Given the description of an element on the screen output the (x, y) to click on. 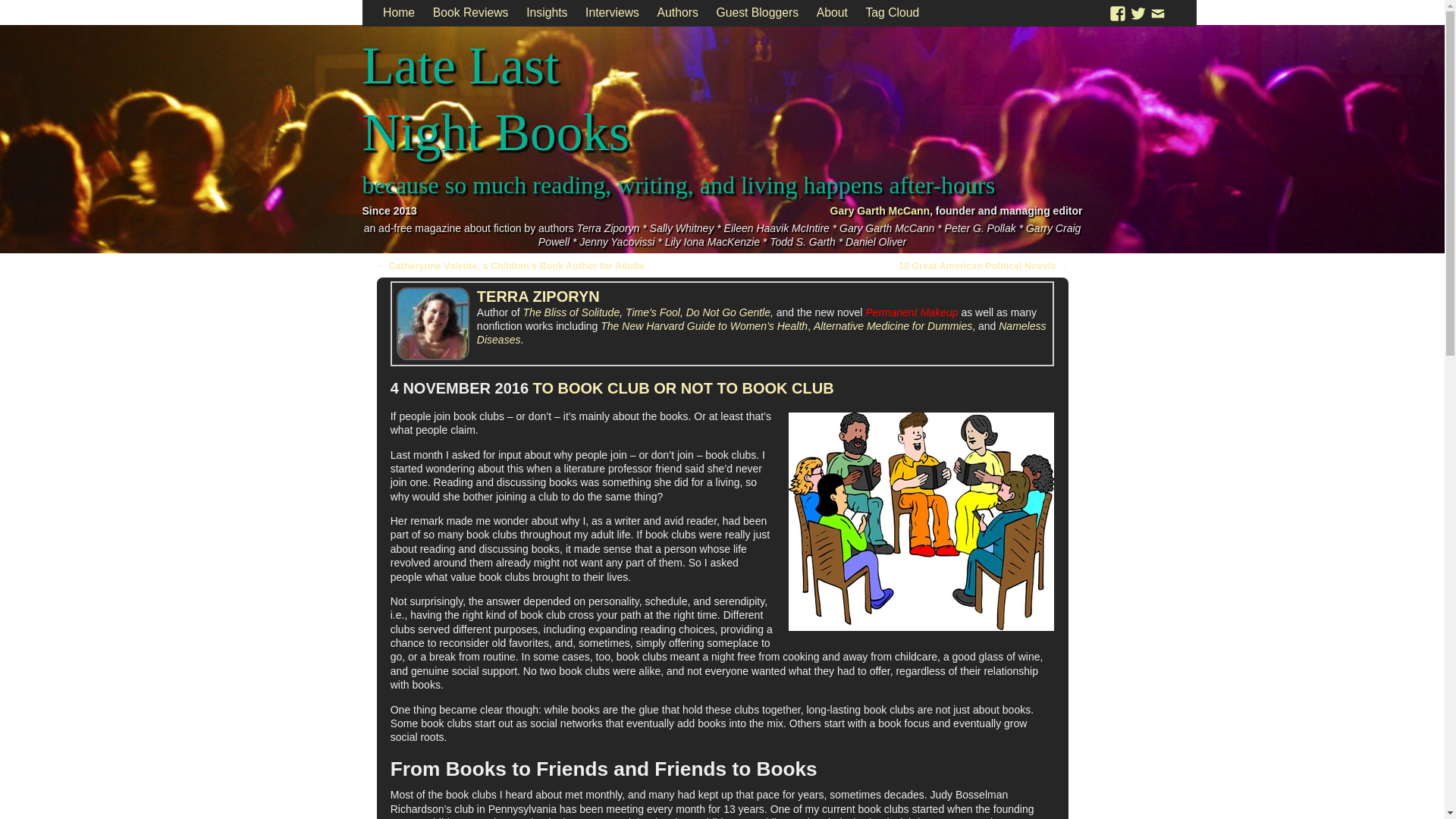
Permanent Makeup (911, 312)
TERRA ZIPORYN (538, 296)
Home (398, 13)
Nameless Diseases (761, 332)
Do Not Go Gentle (727, 312)
Subscribe to receive email updates (1158, 12)
Alternative Medicine for Dummies (892, 326)
Facebook: social networking (1117, 12)
Gary Garth McCann (879, 210)
The Bliss of Solitude (571, 312)
Authors (677, 13)
About (832, 13)
Guest Bloggers (757, 13)
Book Reviews (469, 13)
Interviews (611, 13)
